Given the description of an element on the screen output the (x, y) to click on. 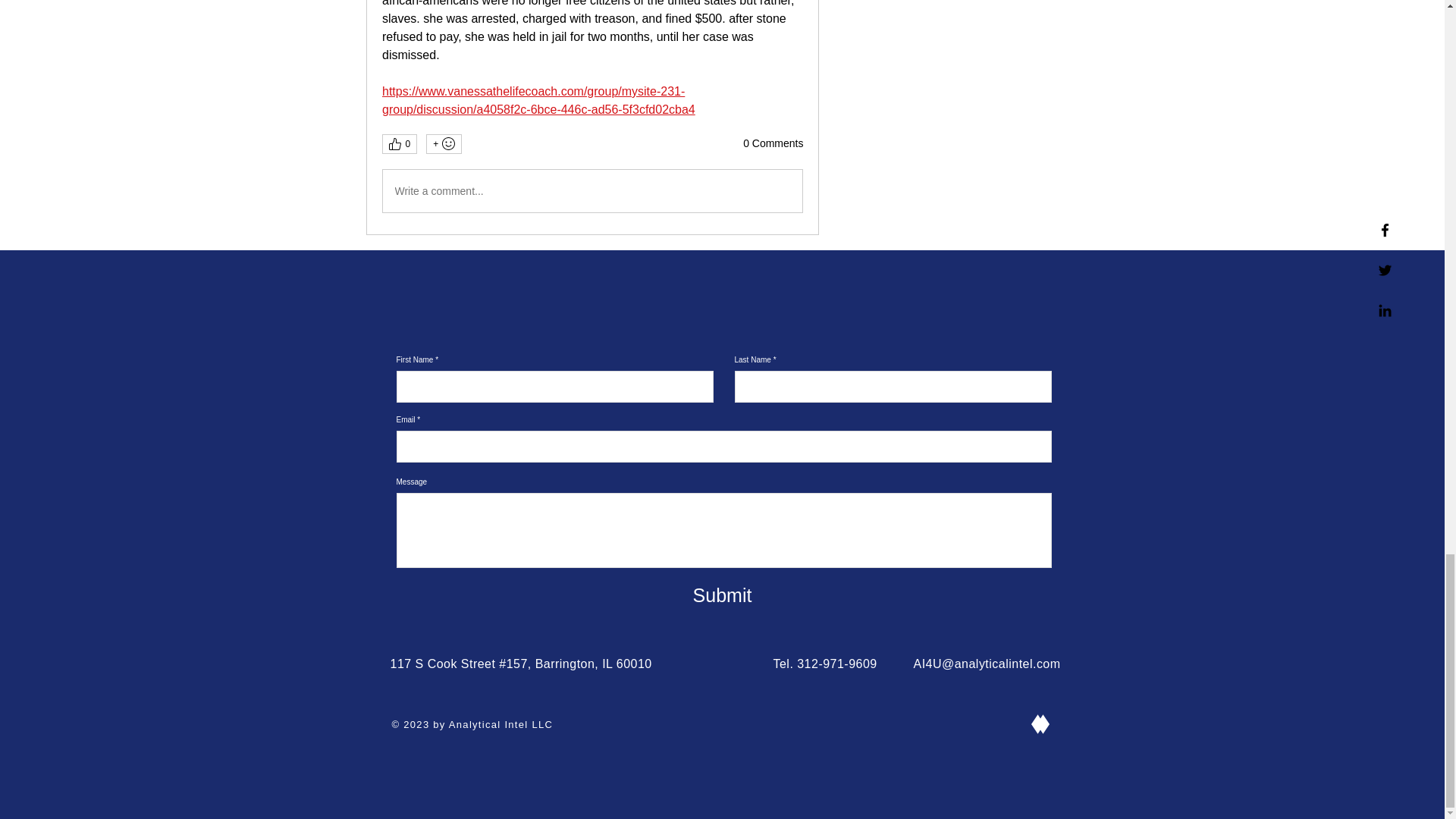
0 Comments (772, 143)
Submit (722, 594)
Write a comment... (591, 190)
